Given the description of an element on the screen output the (x, y) to click on. 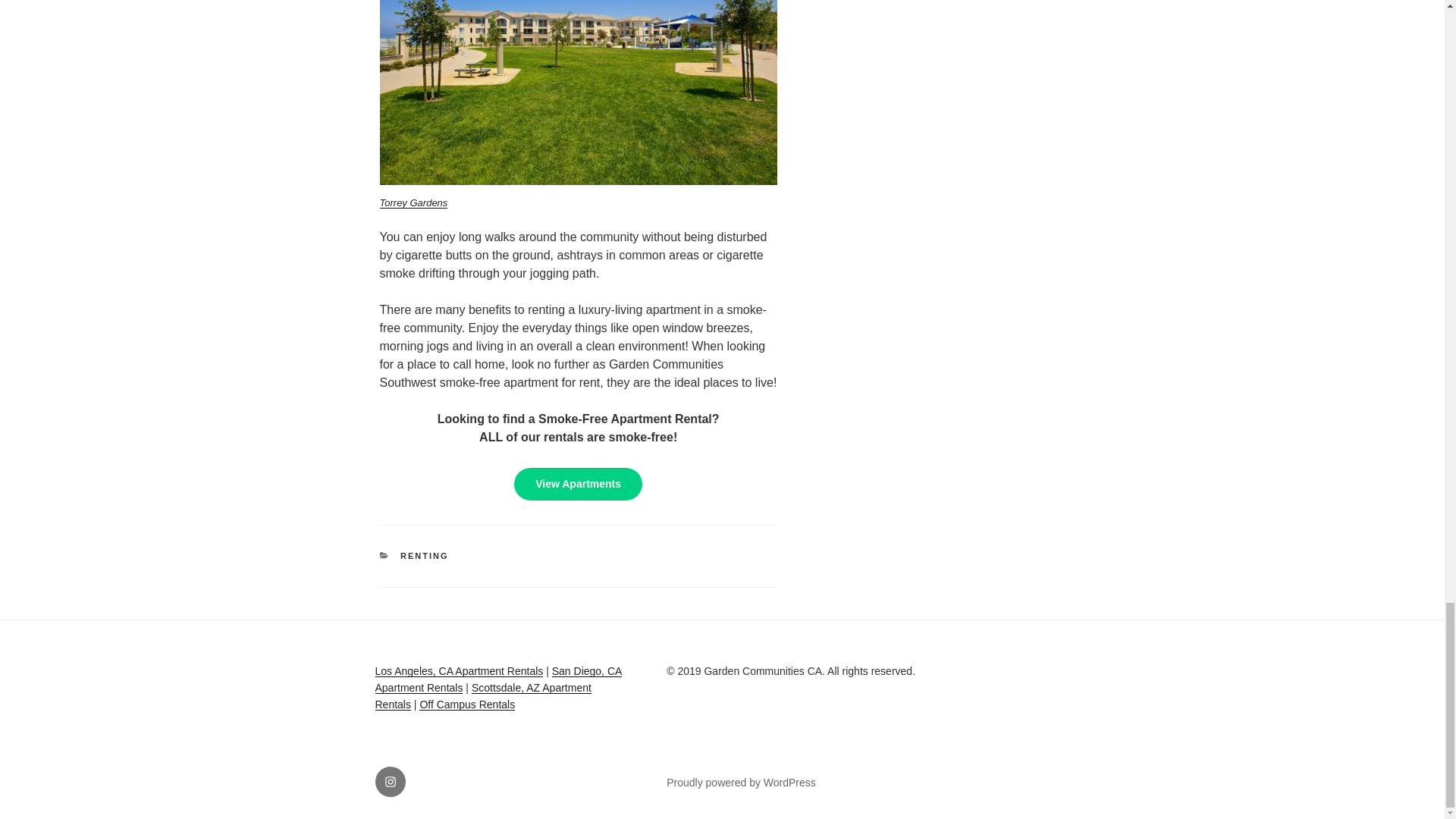
View Apartments (577, 483)
RENTING (424, 555)
Torrey Gardens (412, 202)
